Given the description of an element on the screen output the (x, y) to click on. 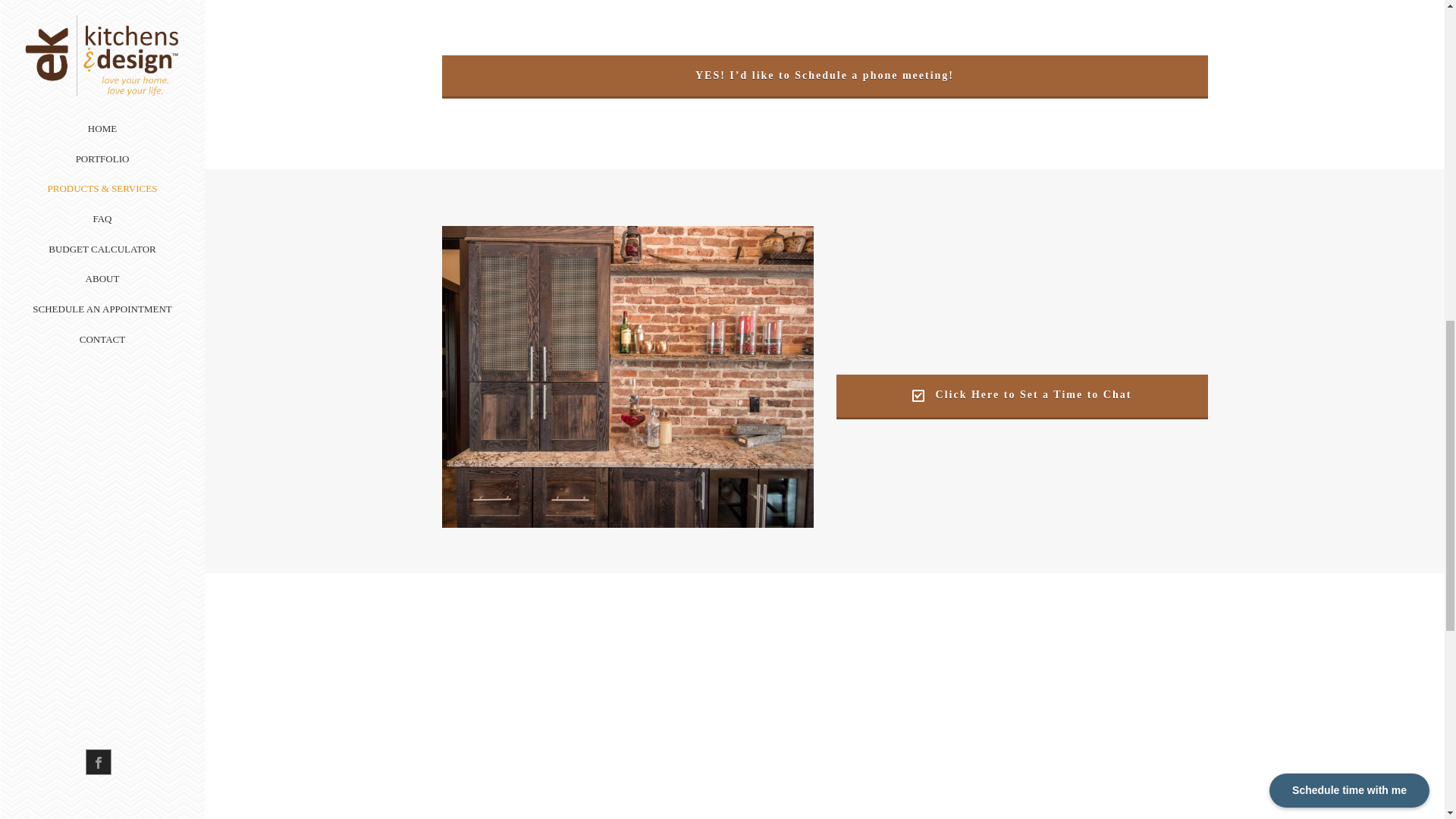
Click Here to Set a Time to Chat (1021, 395)
Click Here to Set a Time to Chat (1021, 395)
